Given the description of an element on the screen output the (x, y) to click on. 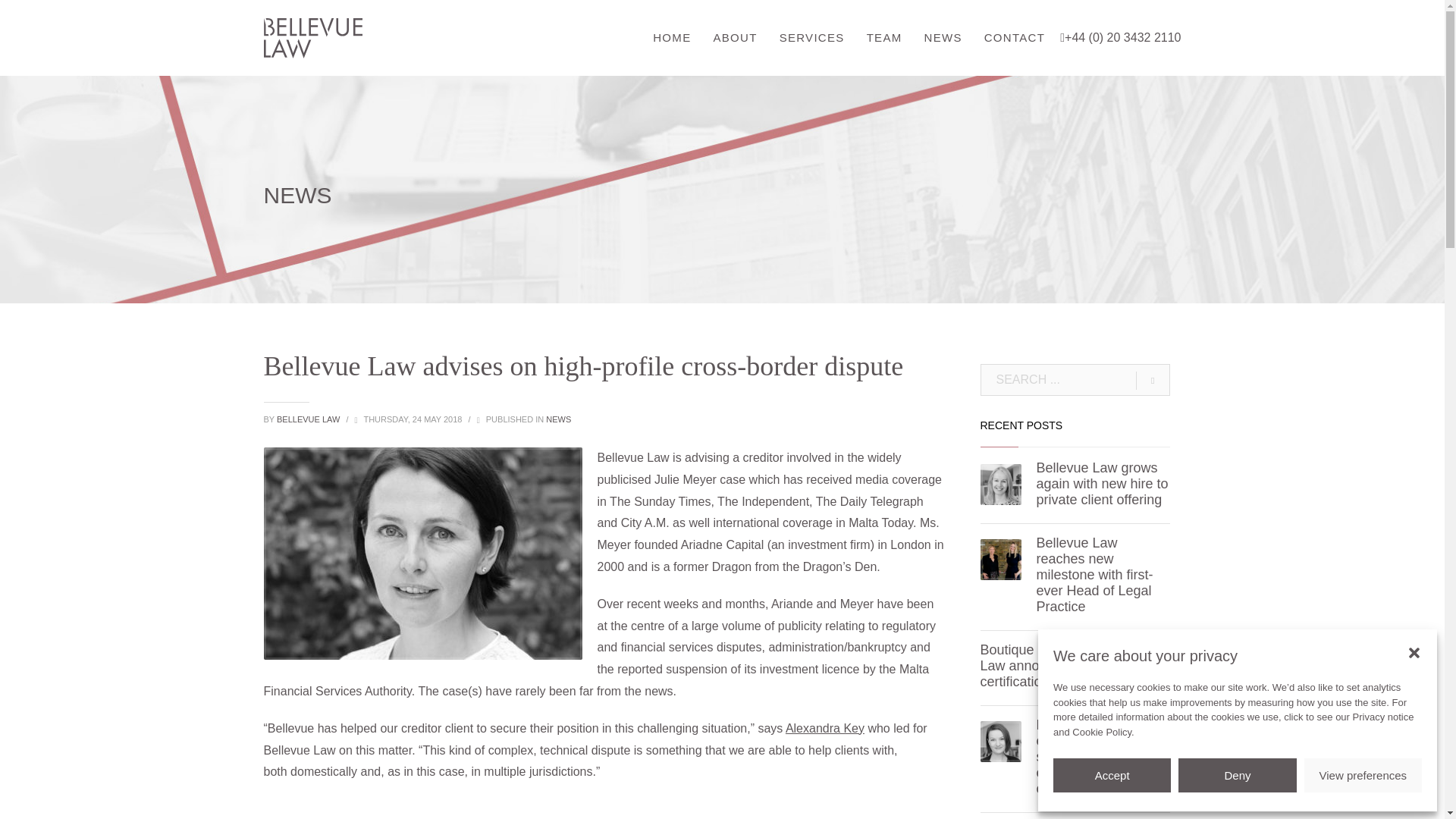
Alexandra Key (422, 553)
ABOUT (734, 37)
SERVICES (811, 37)
TEAM (884, 37)
Cookie Policy (1101, 731)
View preferences (1363, 775)
Deny (1236, 775)
HOME (671, 37)
Accept (1111, 775)
Privacy notice (1382, 716)
